Given the description of an element on the screen output the (x, y) to click on. 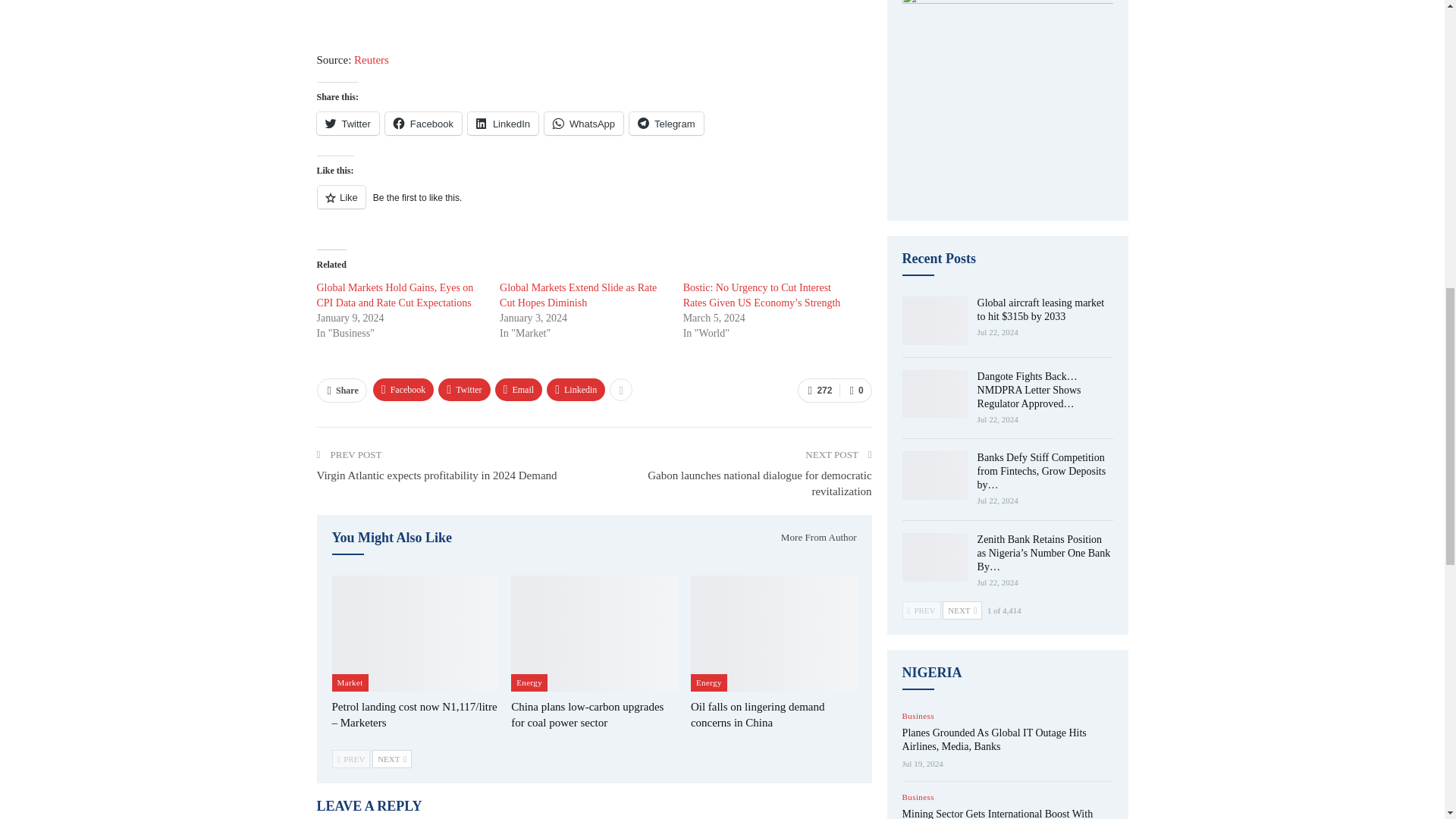
Global Markets Extend Slide as Rate Cut Hopes Diminish (577, 294)
Click to share on LinkedIn (502, 123)
Twitter (347, 123)
Like or Reblog (594, 205)
Facebook (423, 123)
Telegram (665, 123)
Click to share on Telegram (665, 123)
LinkedIn (502, 123)
Click to share on Twitter (347, 123)
Click to share on WhatsApp (583, 123)
China plans low-carbon upgrades for coal power sector (594, 633)
Click to share on Facebook (423, 123)
WhatsApp (583, 123)
Reuters (370, 60)
